Given the description of an element on the screen output the (x, y) to click on. 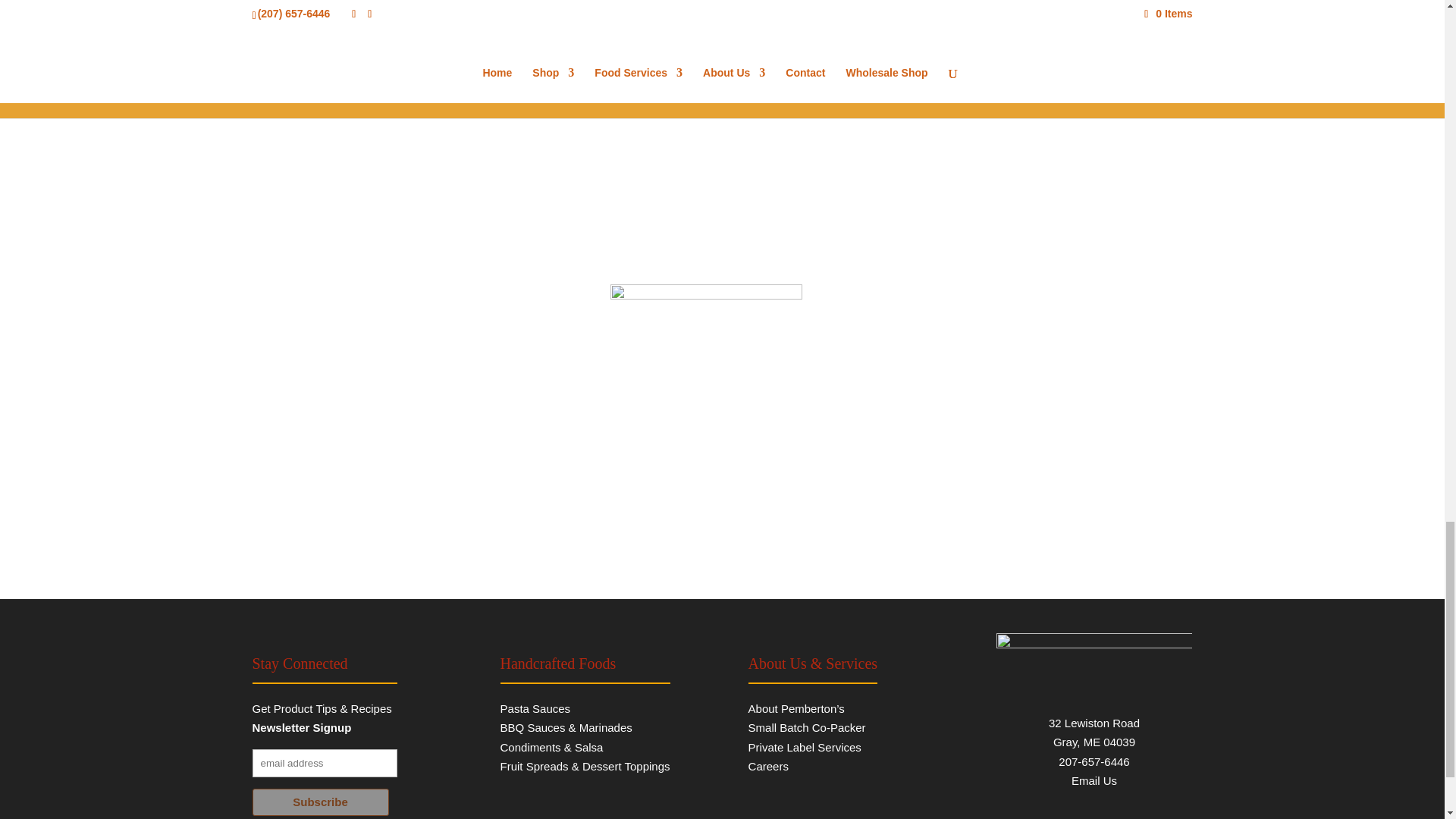
View Recipies (722, 124)
Pasta Sauces (535, 707)
Subscribe (319, 802)
Subscribe (319, 802)
